Given the description of an element on the screen output the (x, y) to click on. 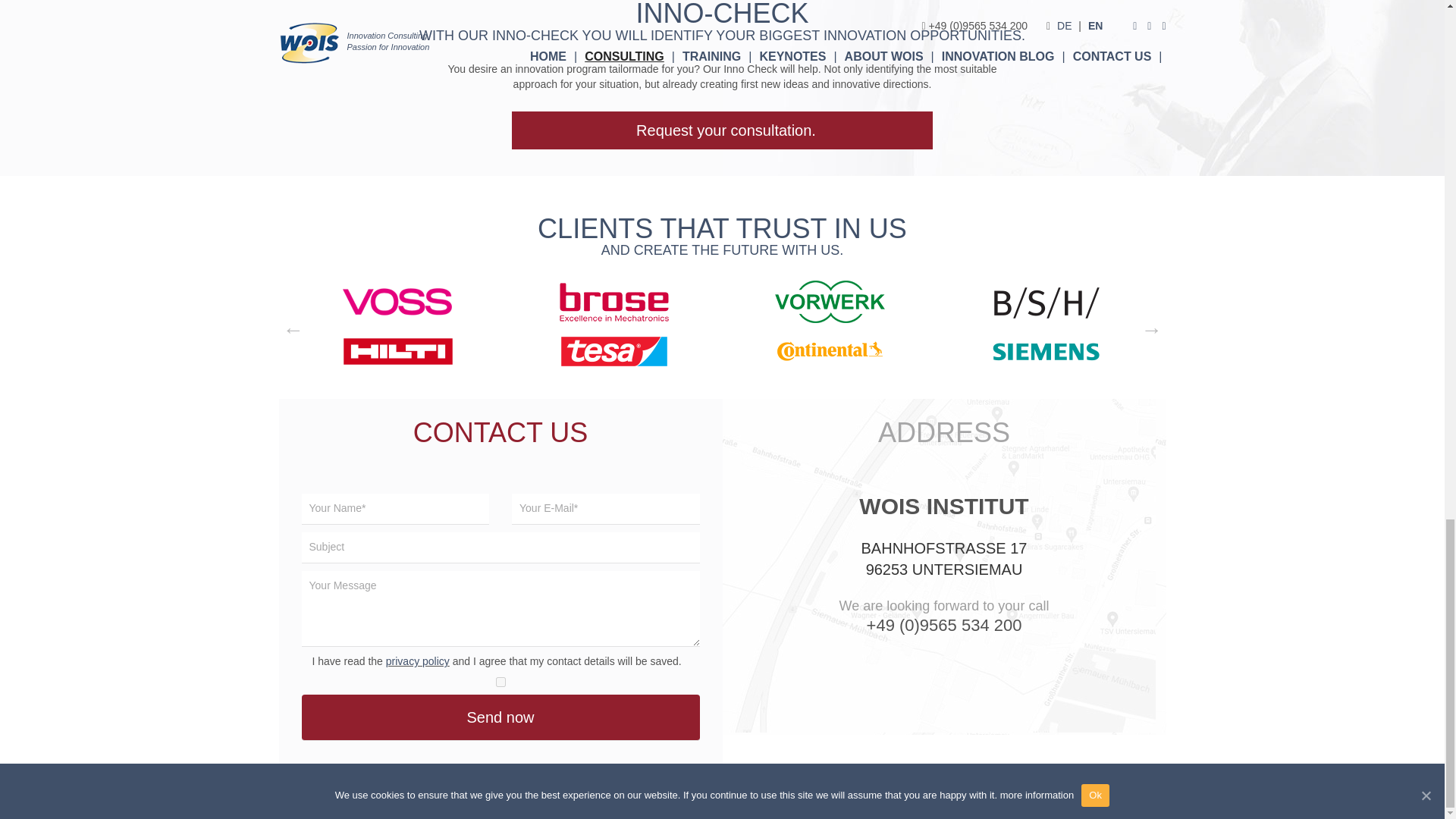
Send now (500, 717)
WOIS auf LinkedIn (1145, 792)
Previous (292, 326)
privacy policy (417, 661)
1 (500, 682)
Send now (500, 717)
WOIS auf Facebook (1106, 792)
WOIS Innovation Consulting (367, 787)
Next (1150, 326)
WOIS auf Xing (1125, 792)
Privacy (512, 787)
Request your consultation. (722, 130)
Rufen Sie uns an (944, 624)
Imprint (469, 787)
